Given the description of an element on the screen output the (x, y) to click on. 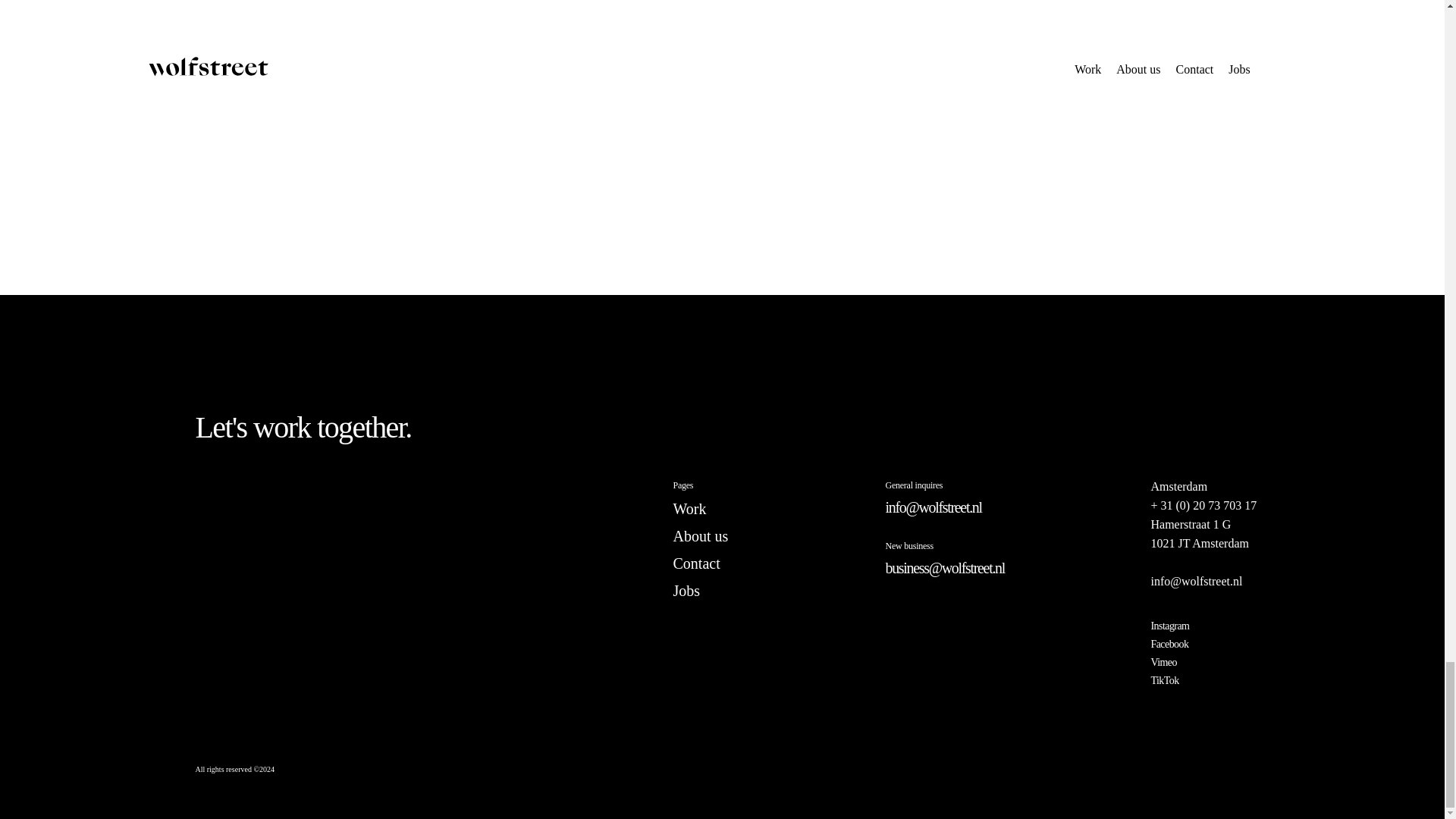
Vimeo (1163, 662)
Contact (695, 563)
About us (700, 535)
Jobs (686, 590)
TikTok (1163, 680)
Facebook (1169, 644)
Work (689, 508)
Instagram (1169, 625)
